Given the description of an element on the screen output the (x, y) to click on. 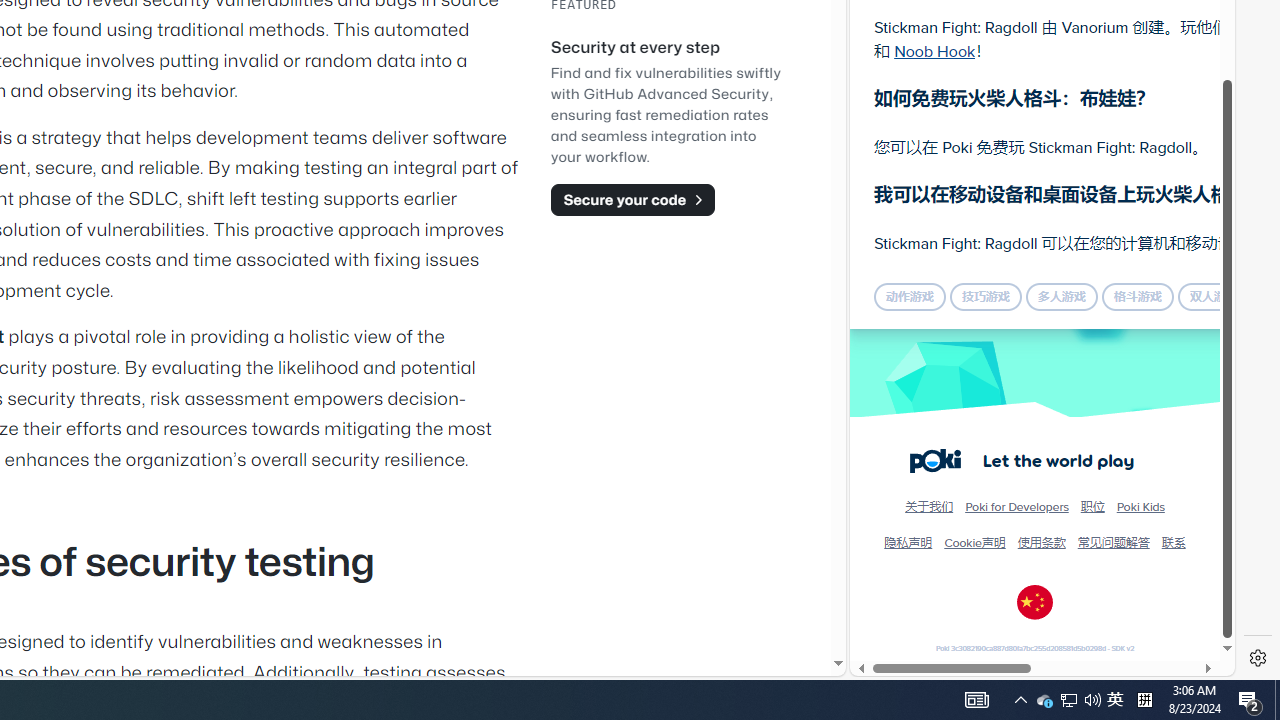
Secure your code (632, 199)
Noob Hook (934, 50)
poki.com (1092, 338)
Click to scroll right (1196, 247)
Hills of Steel (943, 200)
Hills of Steel Hills of Steel poki.com (943, 245)
Search results from poki.com (1005, 59)
Choose language (1035, 602)
